Given the description of an element on the screen output the (x, y) to click on. 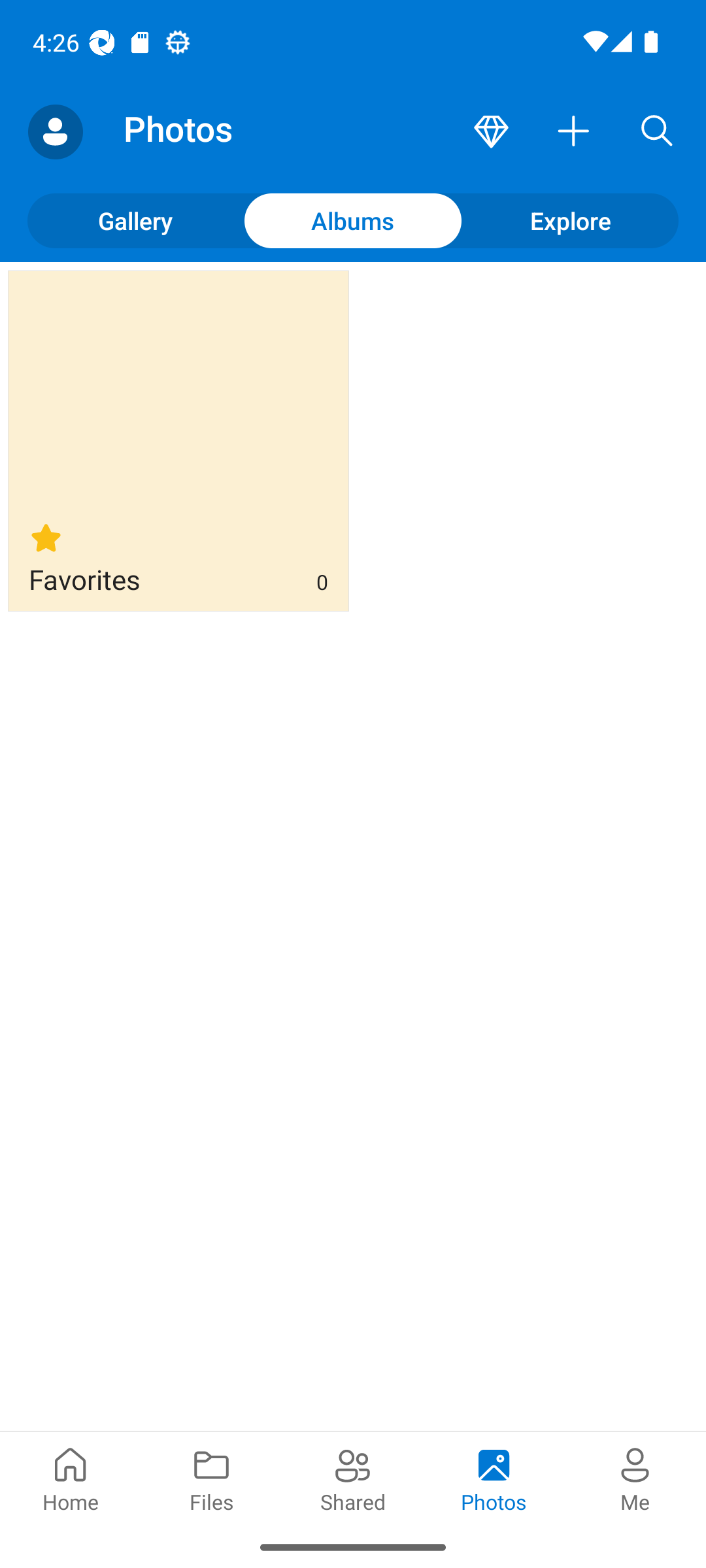
Account switcher (55, 131)
Premium button (491, 131)
Create album button (574, 131)
Search button (656, 131)
Gallery (135, 219)
Explore (569, 219)
Album Favorites Favorites 0 (177, 440)
Home pivot Home (70, 1478)
Files pivot Files (211, 1478)
Shared pivot Shared (352, 1478)
Me pivot Me (635, 1478)
